Given the description of an element on the screen output the (x, y) to click on. 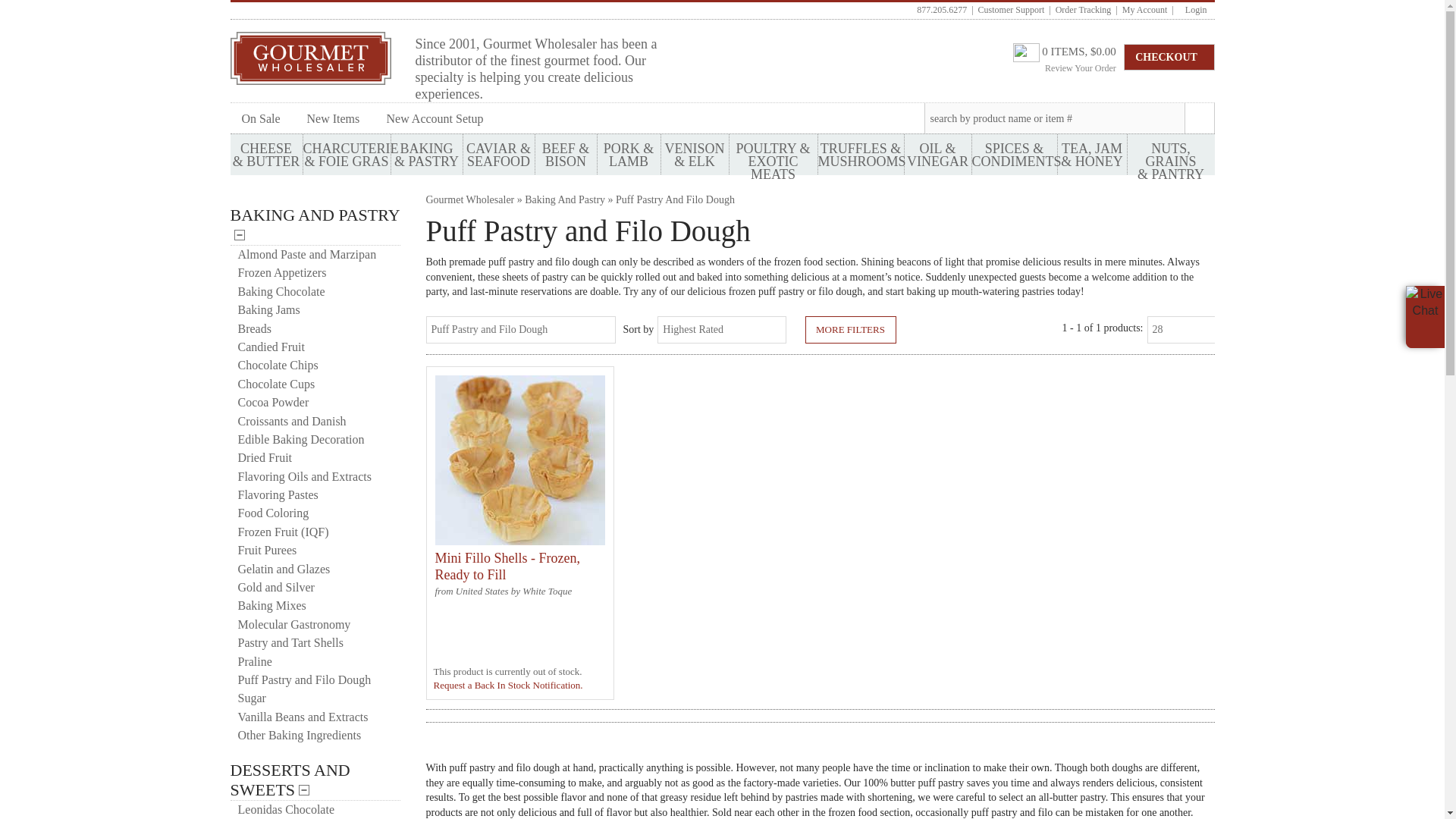
New Account Setup (438, 128)
   Login (1192, 9)
Edible Baking Decoration (315, 439)
Customer Support (1011, 9)
Gourmet Wholesaler (470, 199)
BAKING AND PASTRY (315, 214)
My Account (1144, 9)
Candied Fruit (315, 347)
New Items (335, 128)
Chocolate Chips (315, 365)
CHECKOUT (1169, 55)
Review Your Order (1080, 68)
Flavoring Oils and Extracts (315, 476)
Breads (315, 329)
Chocolate Cups (315, 384)
